Given the description of an element on the screen output the (x, y) to click on. 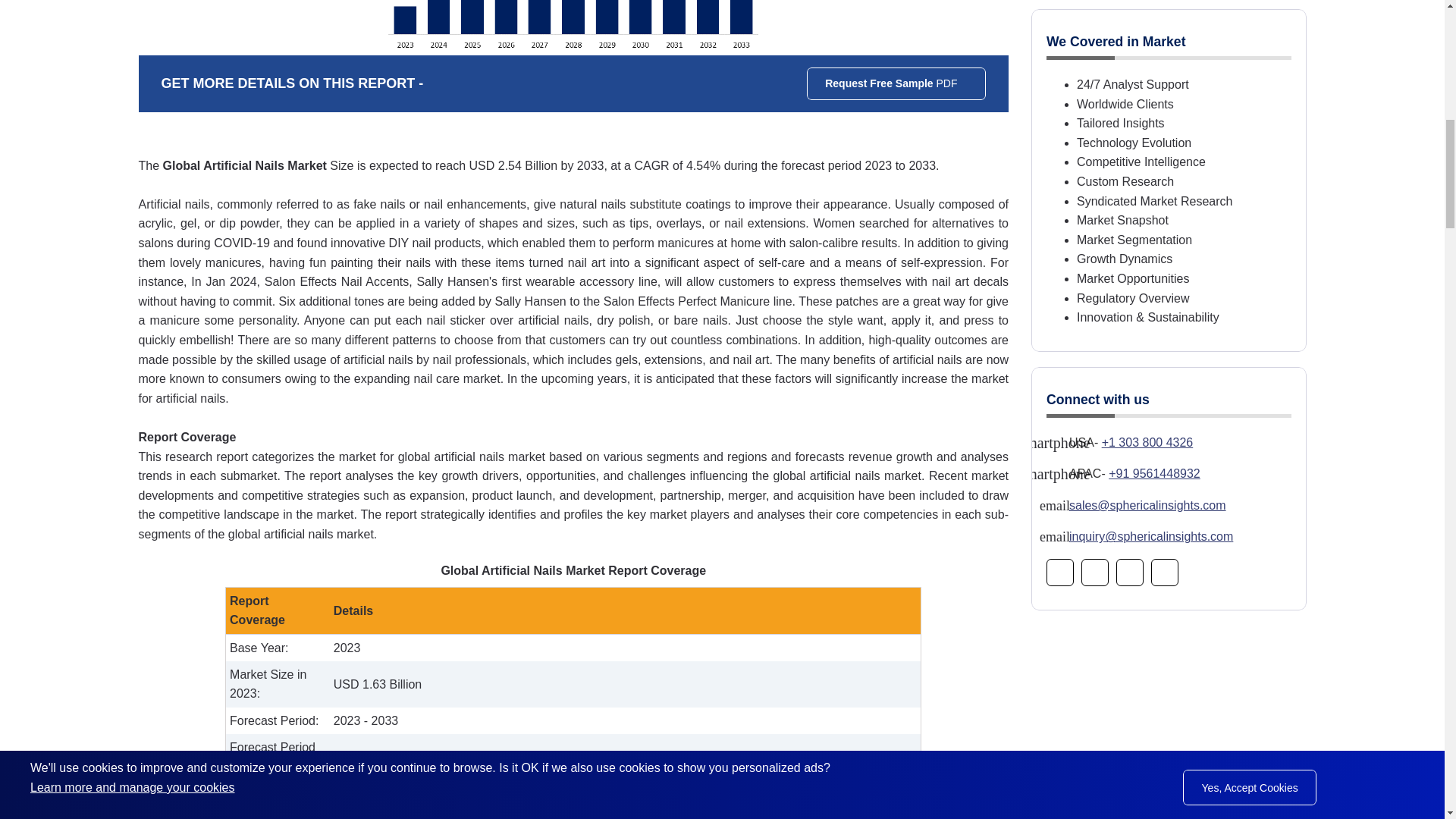
Twitter (1164, 572)
Instagram (1094, 572)
Facebook (1060, 572)
LinkedIn (1129, 572)
